Given the description of an element on the screen output the (x, y) to click on. 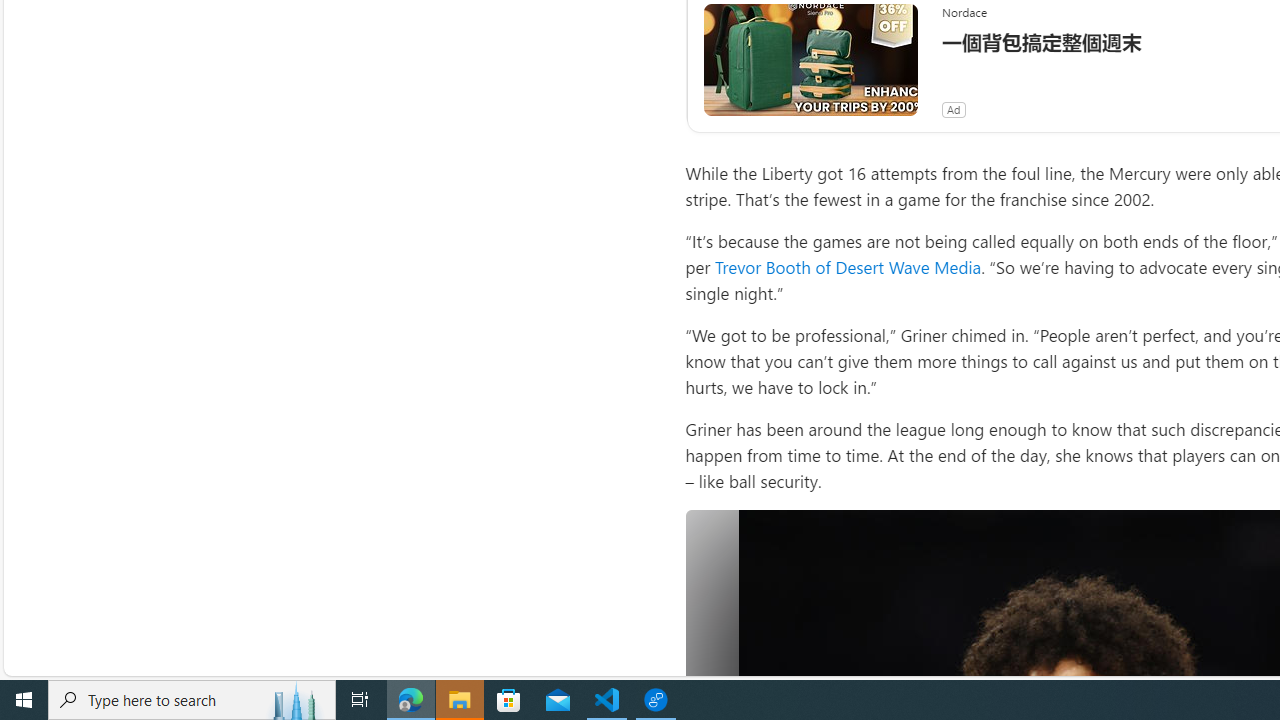
Ad (953, 110)
Trevor Booth of Desert Wave Media (847, 266)
